Given the description of an element on the screen output the (x, y) to click on. 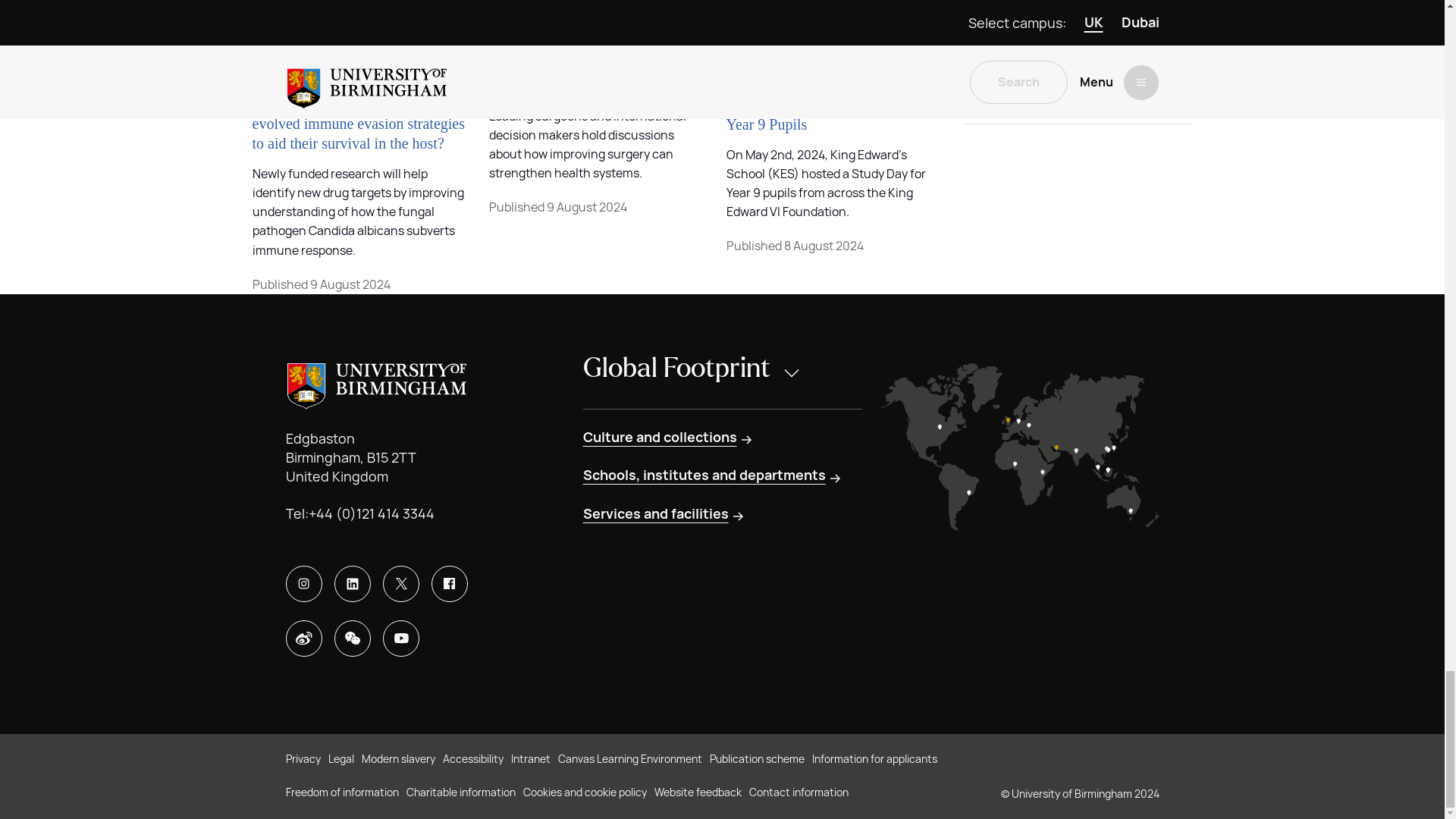
Legal (340, 760)
Publication scheme (757, 760)
Accessibility (472, 760)
Services and facilities (663, 514)
Modern slavery (397, 760)
Culture and collections (668, 437)
Intranet (530, 760)
Privacy (302, 760)
